Given the description of an element on the screen output the (x, y) to click on. 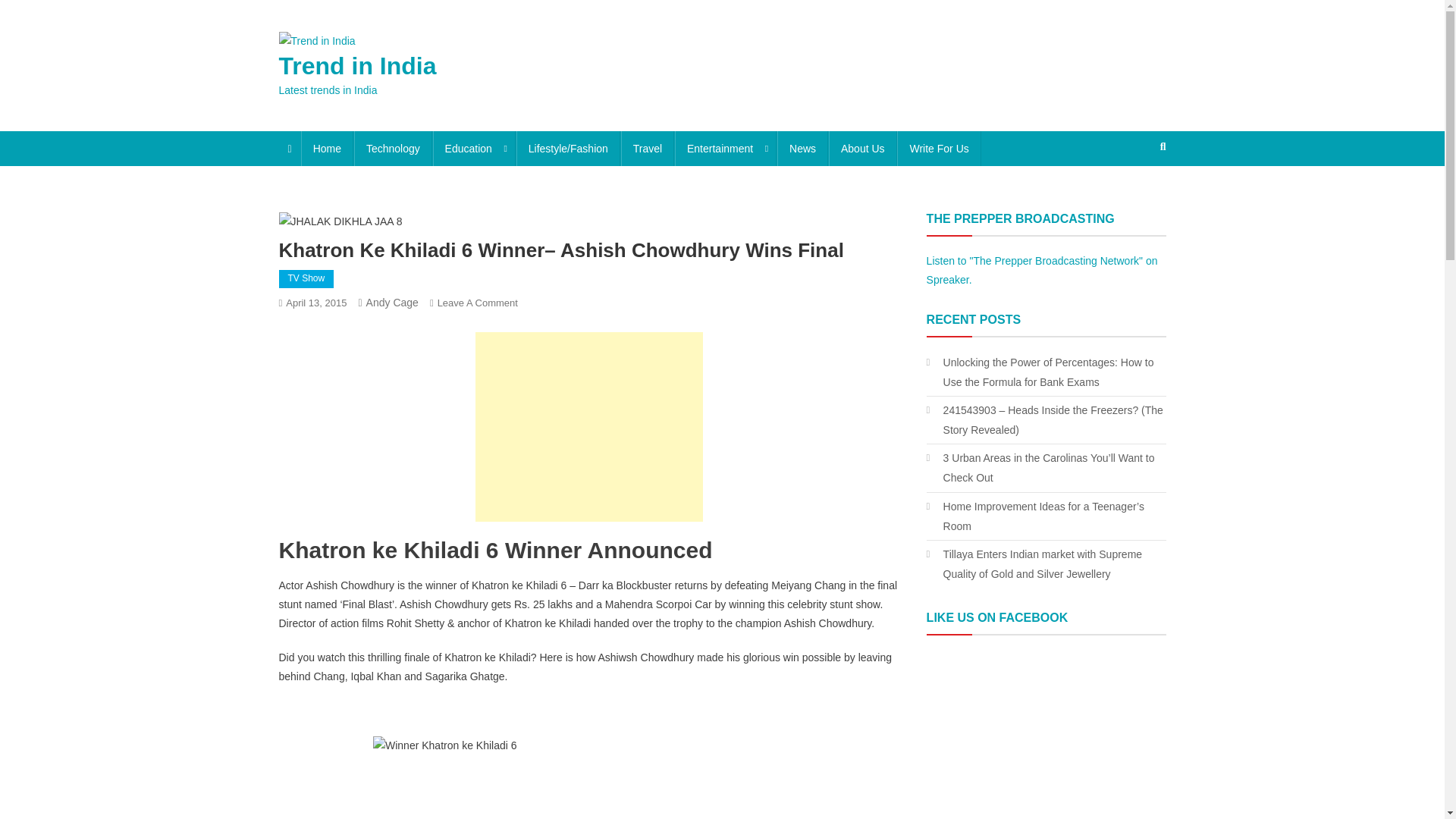
Trend in India (357, 65)
Travel (647, 148)
Home (327, 148)
TV Show (306, 279)
Search (1133, 196)
Write For Us (937, 148)
Entertainment (725, 148)
Technology (392, 148)
News (802, 148)
Andy Cage (392, 302)
